Given the description of an element on the screen output the (x, y) to click on. 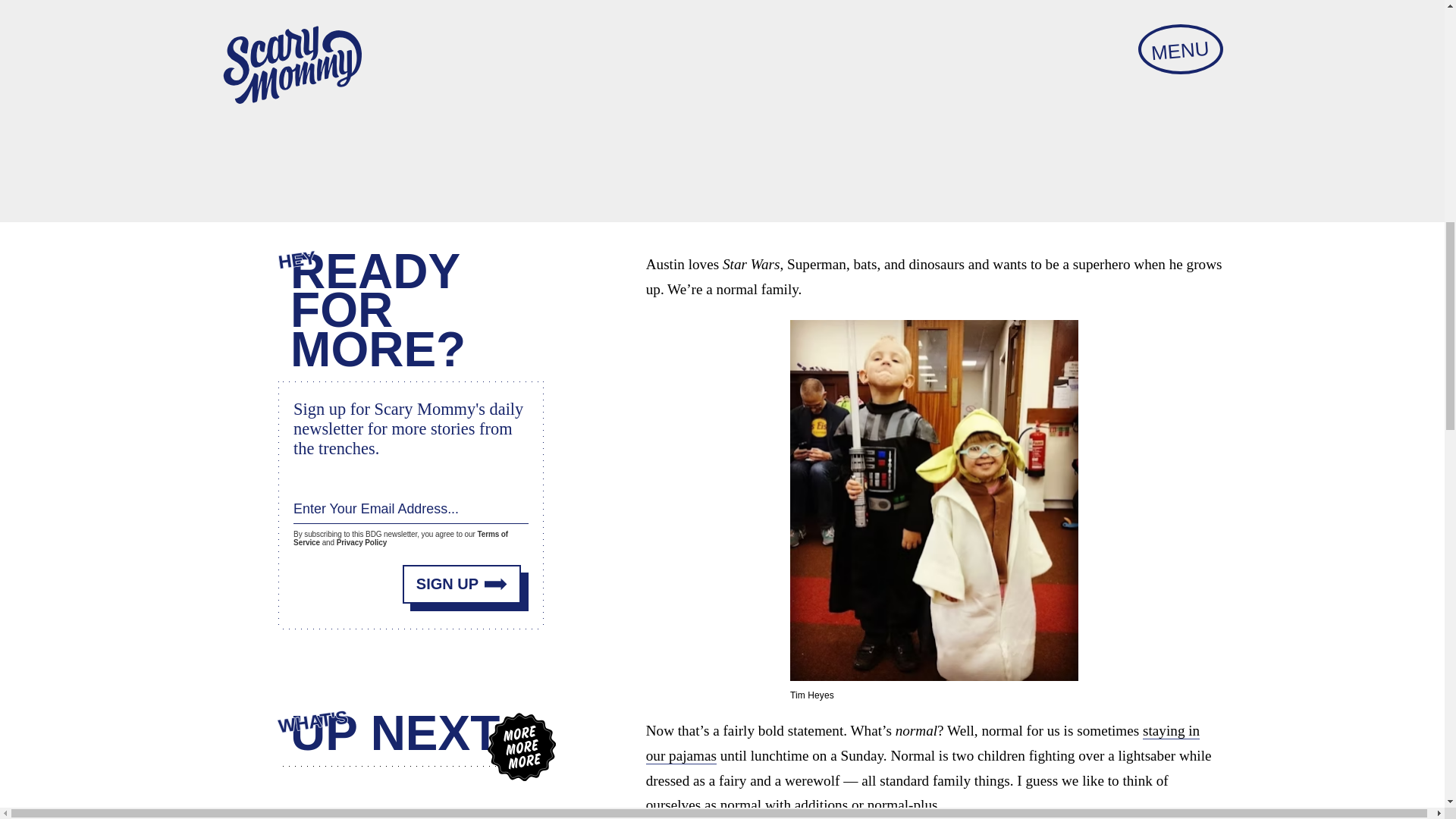
Terms of Service (401, 538)
Privacy Policy (361, 542)
staying in our pajamas (922, 743)
SIGN UP (462, 584)
